Given the description of an element on the screen output the (x, y) to click on. 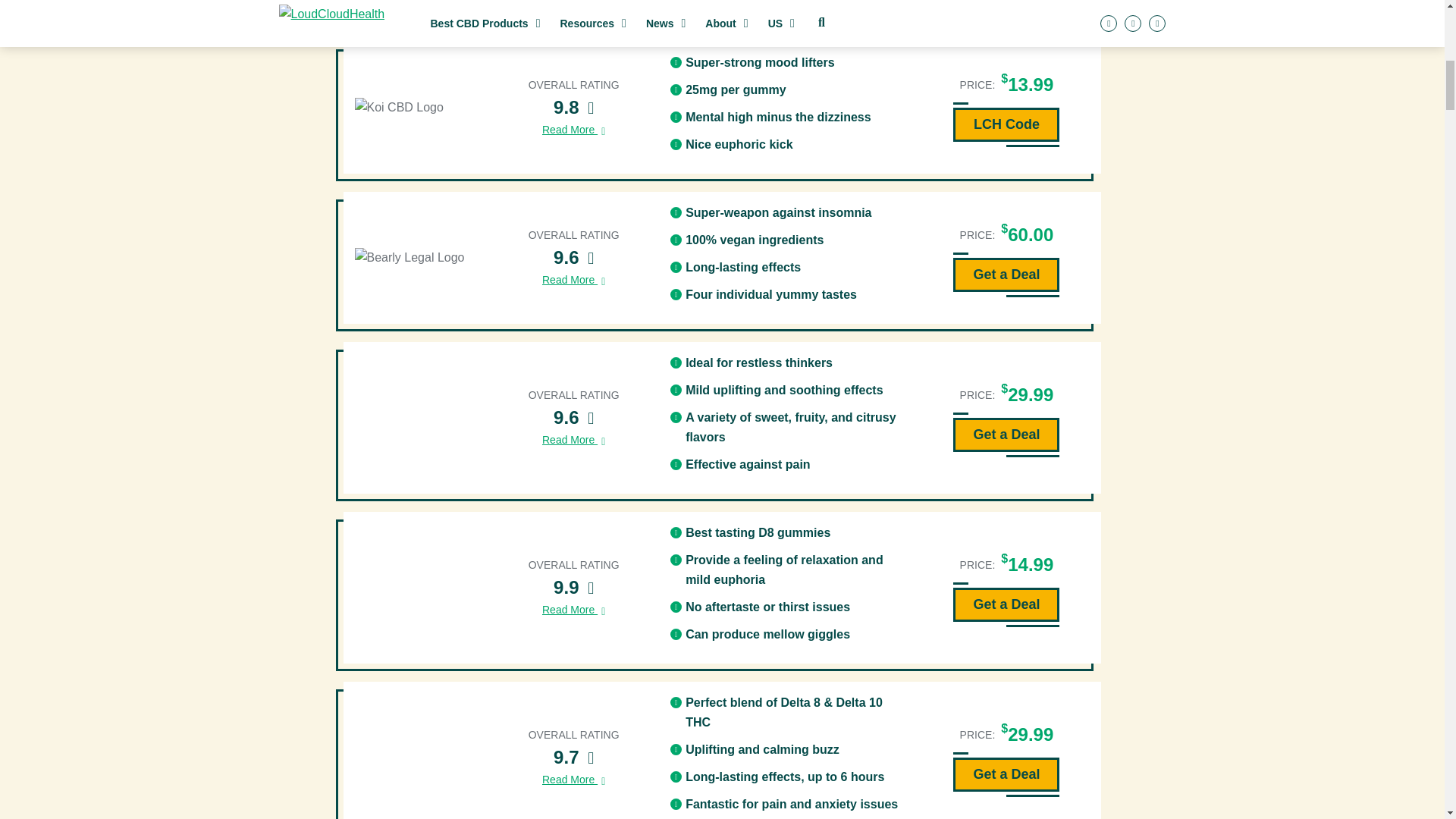
Get a Deal (1006, 274)
Read More (573, 280)
Read More (573, 129)
